Given the description of an element on the screen output the (x, y) to click on. 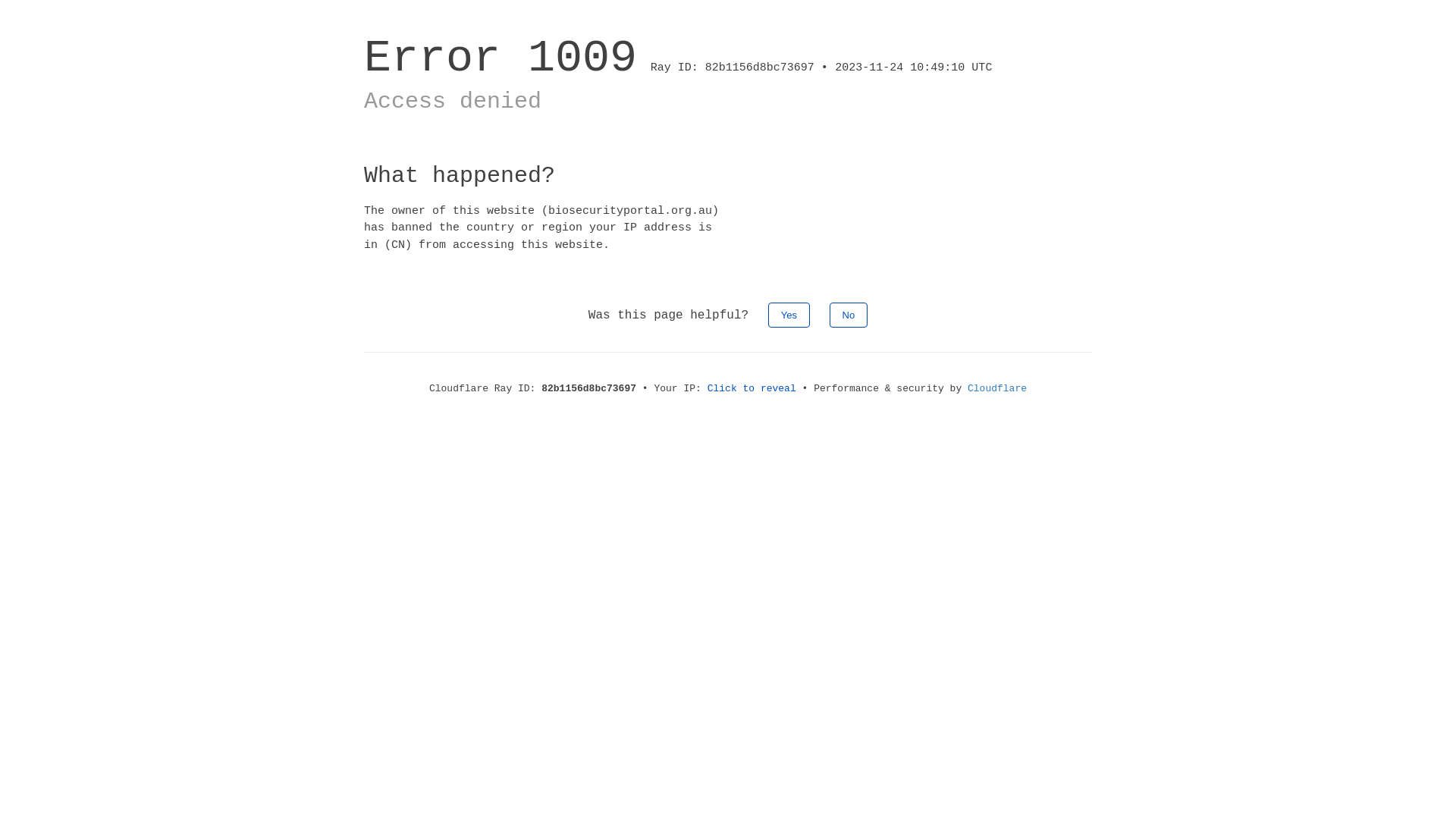
No Element type: text (848, 314)
Yes Element type: text (788, 314)
Click to reveal Element type: text (751, 388)
Cloudflare Element type: text (996, 388)
